Given the description of an element on the screen output the (x, y) to click on. 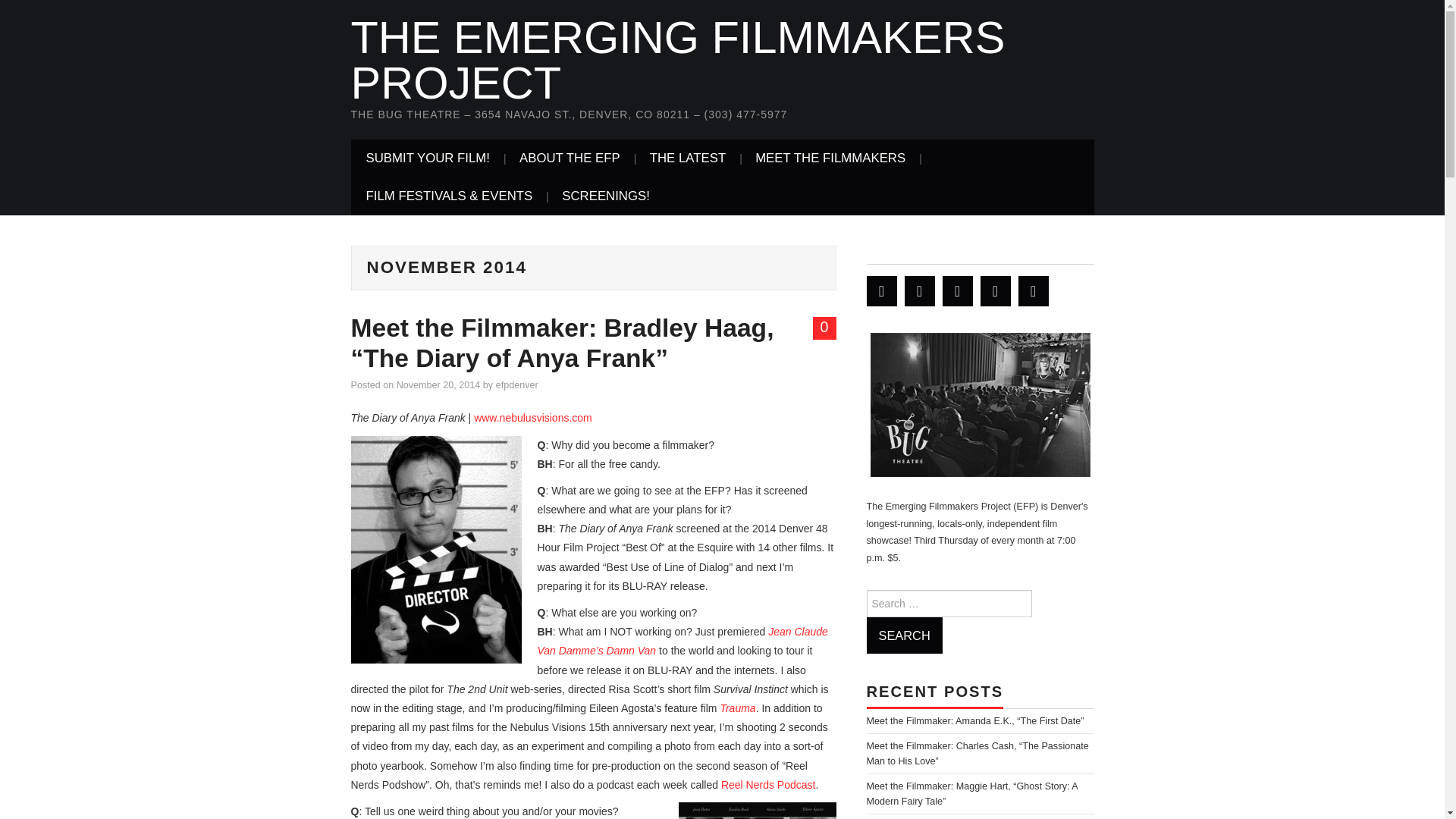
THE LATEST (687, 158)
Instagram (1032, 291)
SUBMIT YOUR FILM! (427, 158)
ABOUT THE EFP (568, 158)
Facebook (919, 291)
Vimeo (957, 291)
Search for: (948, 603)
SCREENINGS! (606, 196)
Twitter (881, 291)
MEET THE FILMMAKERS (829, 158)
Search (904, 635)
THE EMERGING FILMMAKERS PROJECT (677, 60)
The Emerging Filmmakers Project (677, 60)
Flickr (994, 291)
8:24 pm (438, 385)
